Given the description of an element on the screen output the (x, y) to click on. 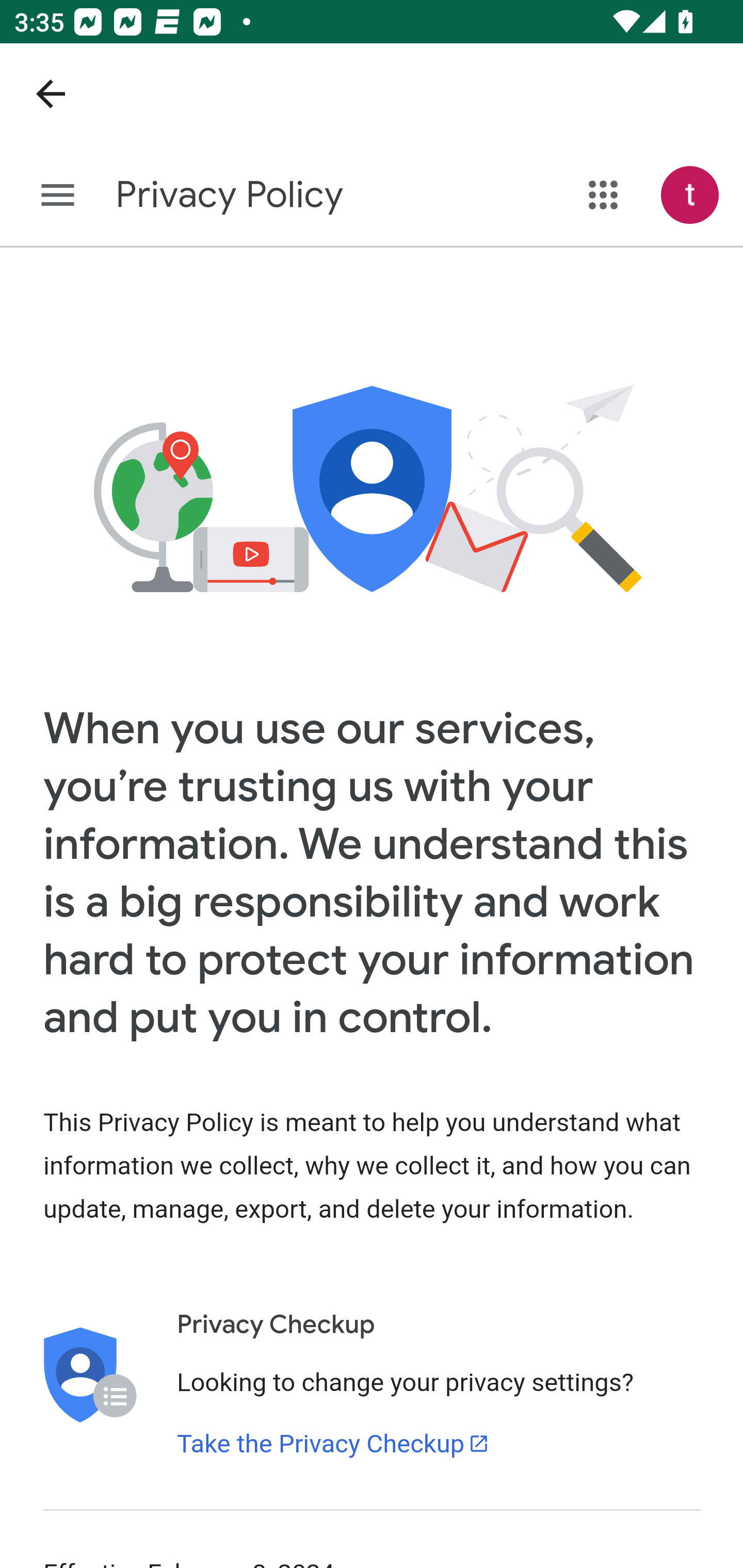
Navigate up (50, 93)
Main menu (58, 195)
Google apps (603, 195)
Take the Privacy Checkup (333, 1443)
